Given the description of an element on the screen output the (x, y) to click on. 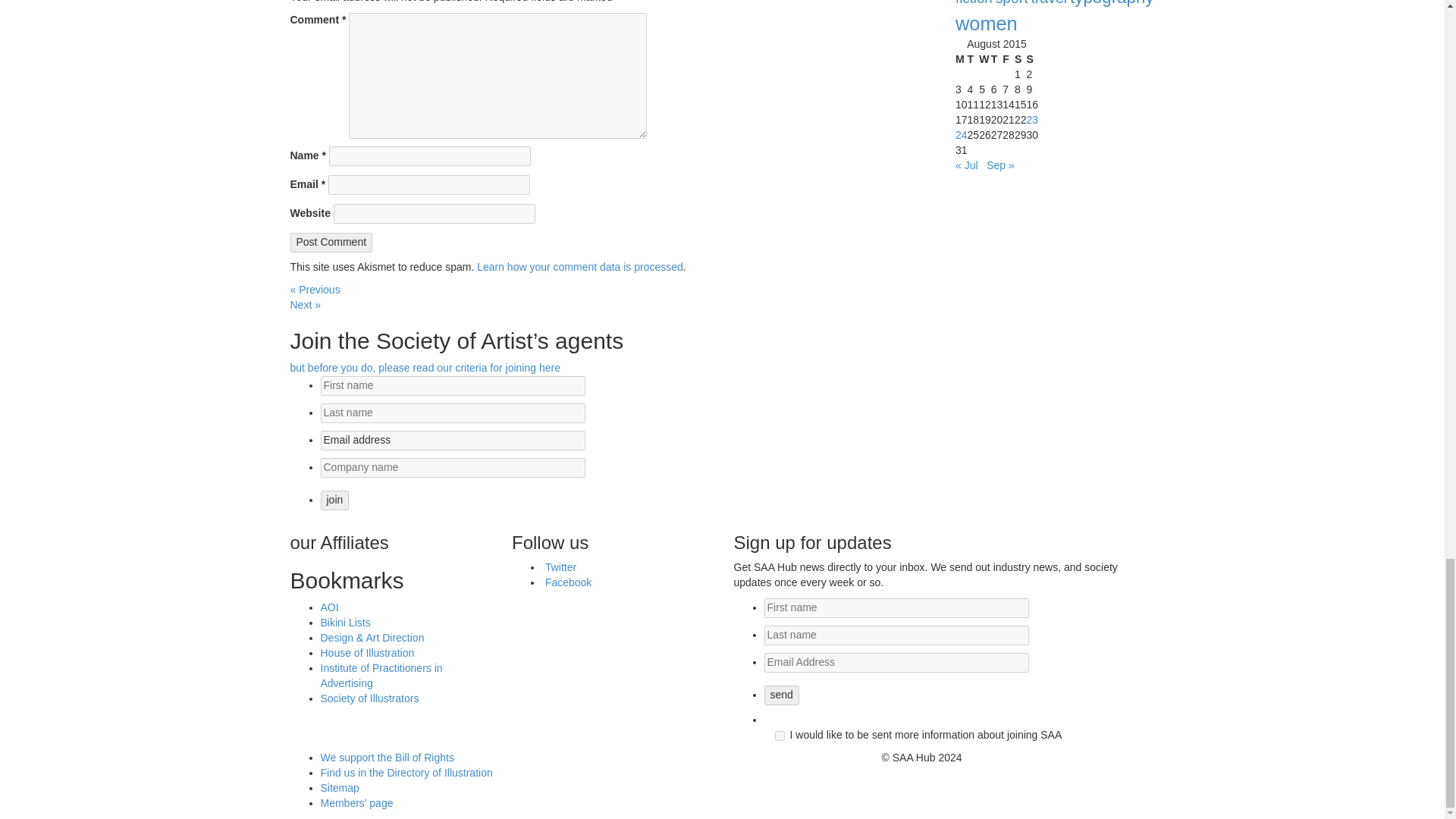
Post Comment (330, 242)
Email address (452, 440)
send (781, 695)
Post Comment (330, 242)
Learn how your comment data is processed (579, 266)
join (334, 500)
I would like to be sent more information about joining SAA (779, 736)
